Given the description of an element on the screen output the (x, y) to click on. 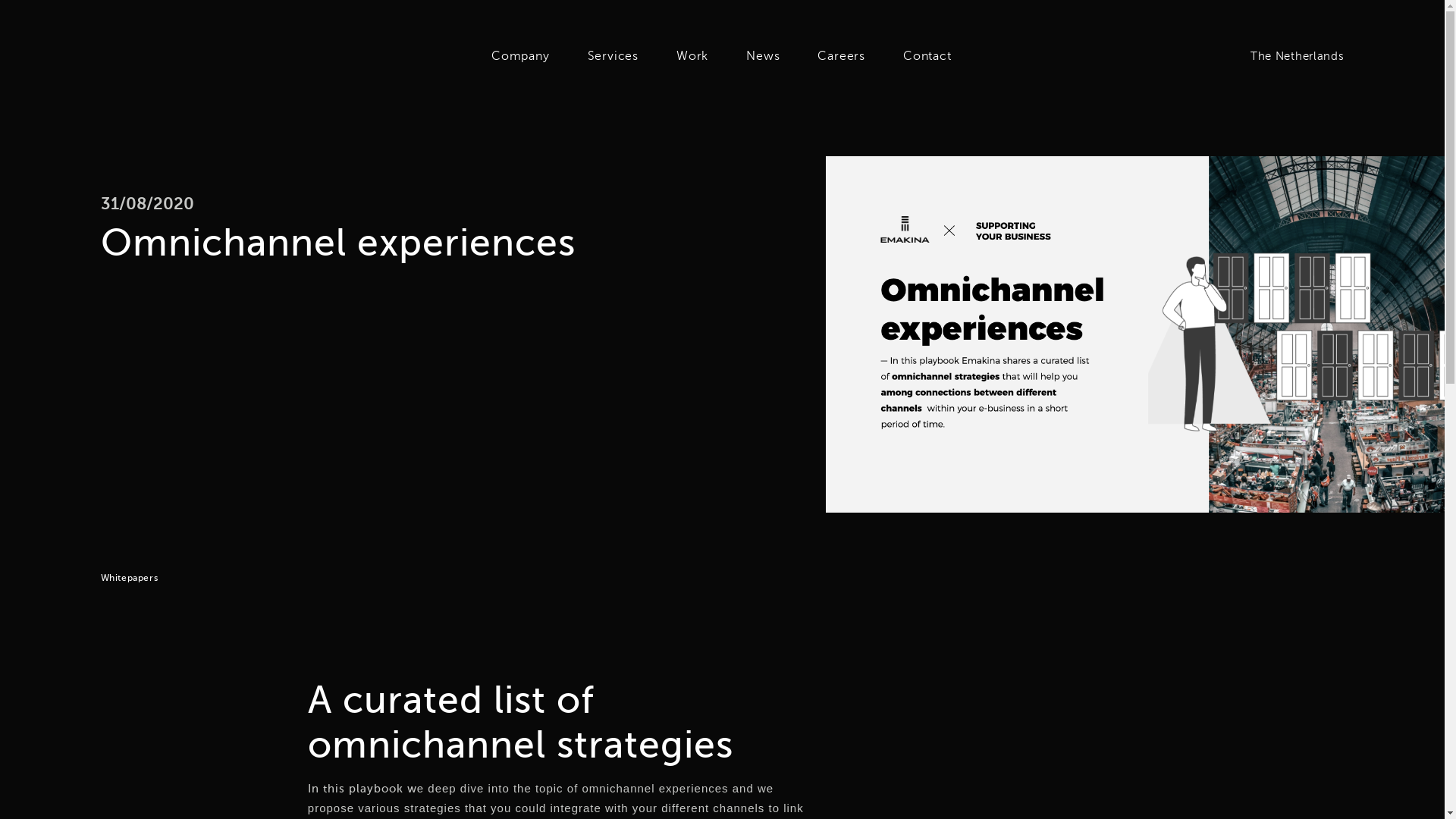
The Netherlands (1289, 55)
News (761, 55)
Services (613, 55)
Company (520, 55)
Contact (927, 55)
Careers (840, 55)
Work (692, 55)
